Given the description of an element on the screen output the (x, y) to click on. 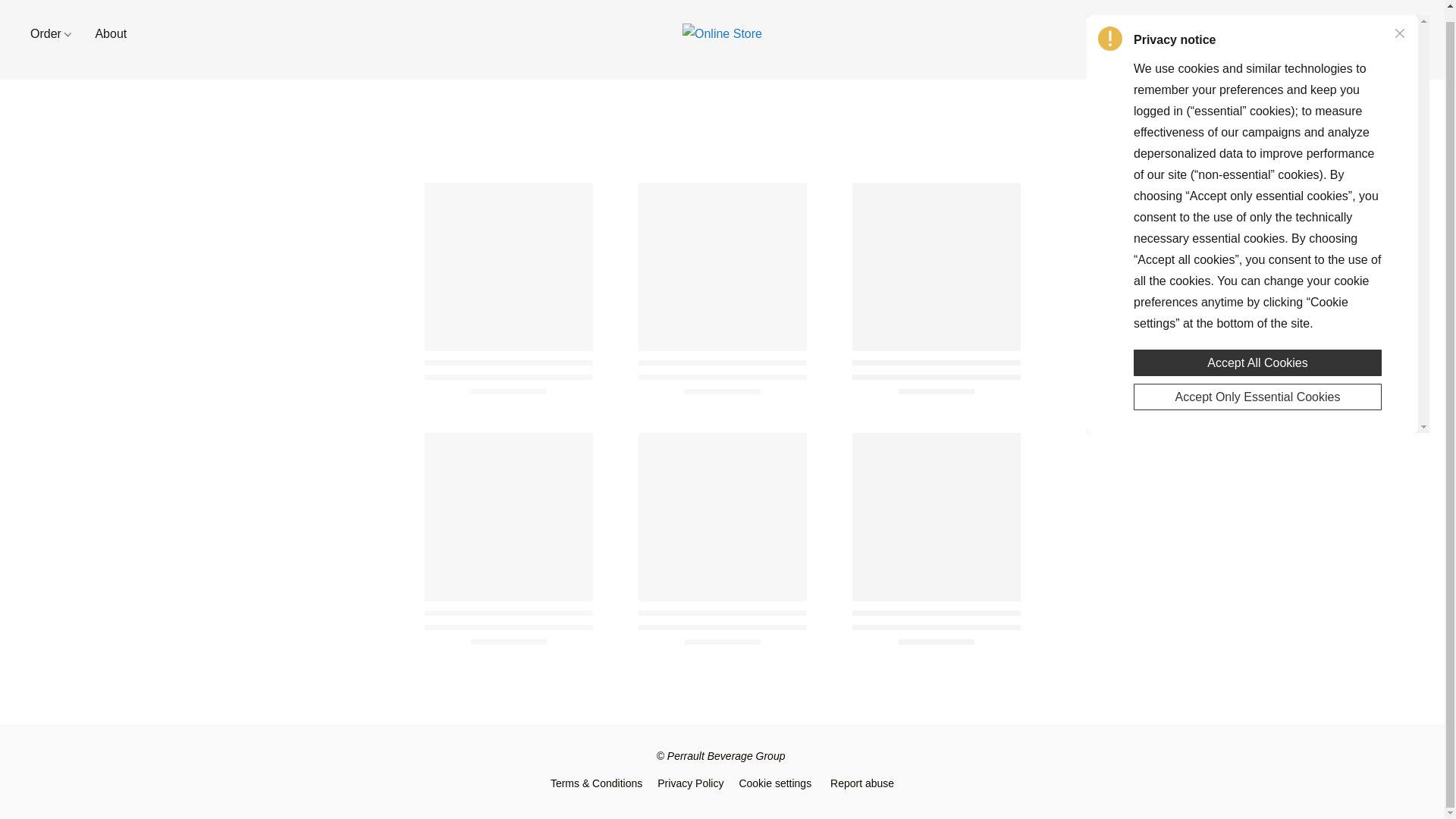
Privacy Policy (690, 782)
Search the website (1363, 33)
Report abuse (861, 782)
Accept All Cookies (1257, 346)
Go to your shopping cart (1404, 33)
Accept Only Essential Cookies (1257, 383)
About (104, 33)
Order (56, 33)
